Given the description of an element on the screen output the (x, y) to click on. 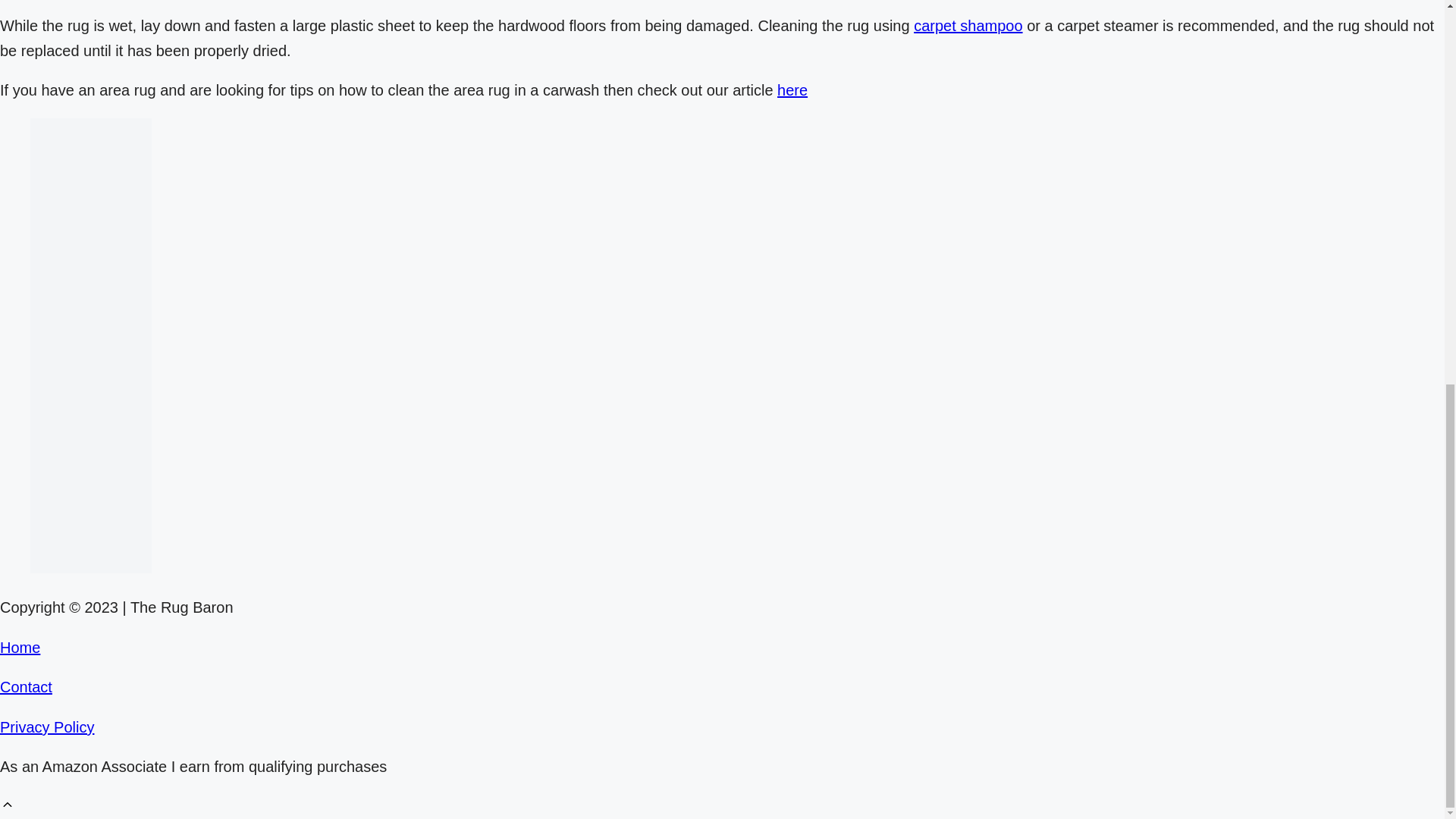
160 (90, 345)
Contact (26, 686)
carpet shampoo (968, 25)
Privacy Policy (47, 727)
Home (20, 647)
here (792, 89)
Scroll back to top (7, 806)
